Given the description of an element on the screen output the (x, y) to click on. 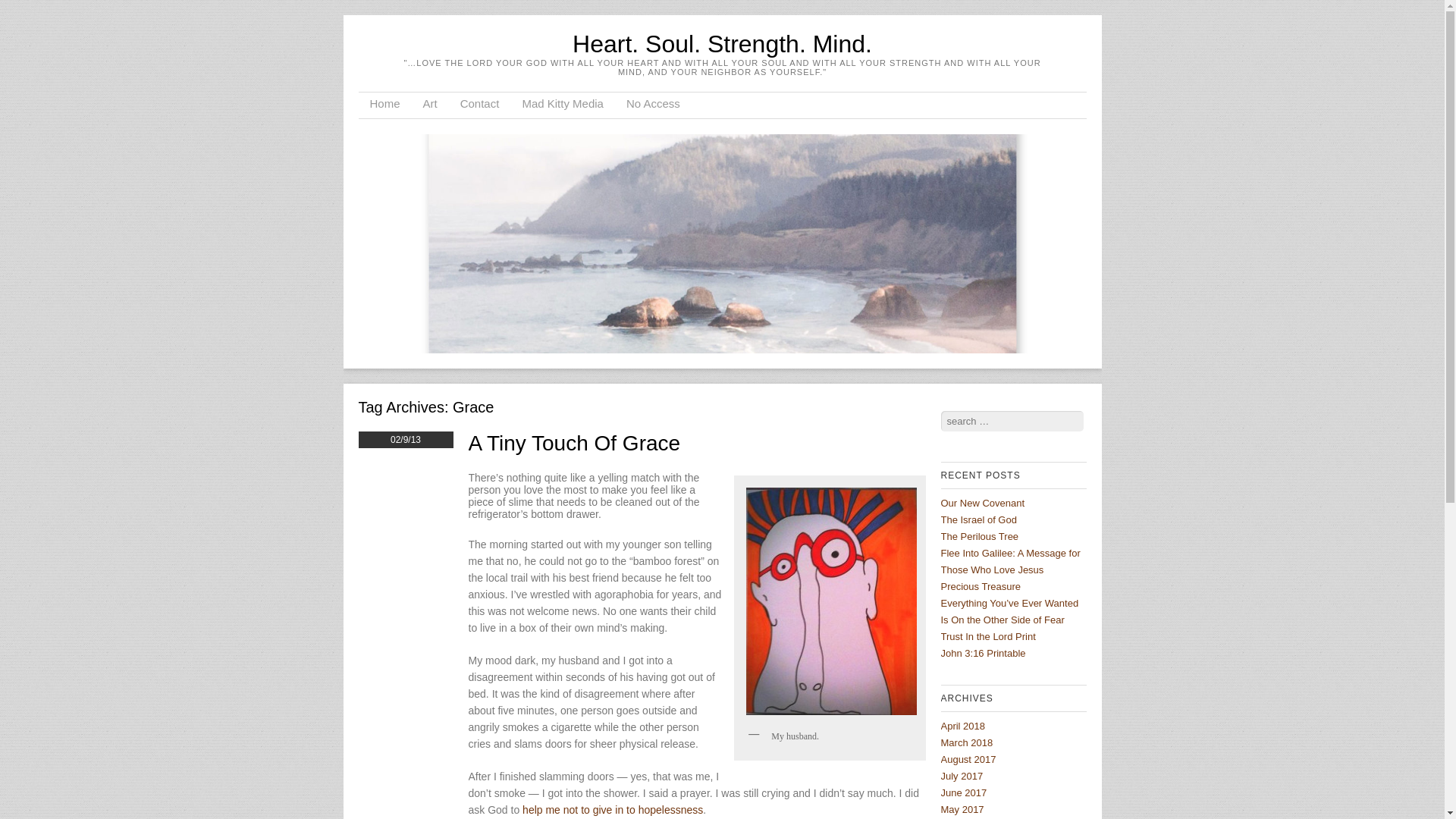
A Tiny Touch Of Grace (574, 443)
April 2018 (962, 726)
Home (384, 104)
Heart. Soul. Strength. Mind. (722, 43)
John 3:16 Printable (982, 653)
Flee Into Galilee: A Message for Those Who Love Jesus (1010, 561)
Permalink to A Tiny Touch of Grace (574, 443)
Heart. Soul. Strength. Mind. (722, 43)
The Perilous Tree (978, 536)
depression and hopelessness (612, 809)
August 2017 (967, 758)
March 2018 (966, 742)
The Israel of God (978, 519)
help me not to give in to hopelessness (612, 809)
Mad Kitty Media (562, 104)
